Given the description of an element on the screen output the (x, y) to click on. 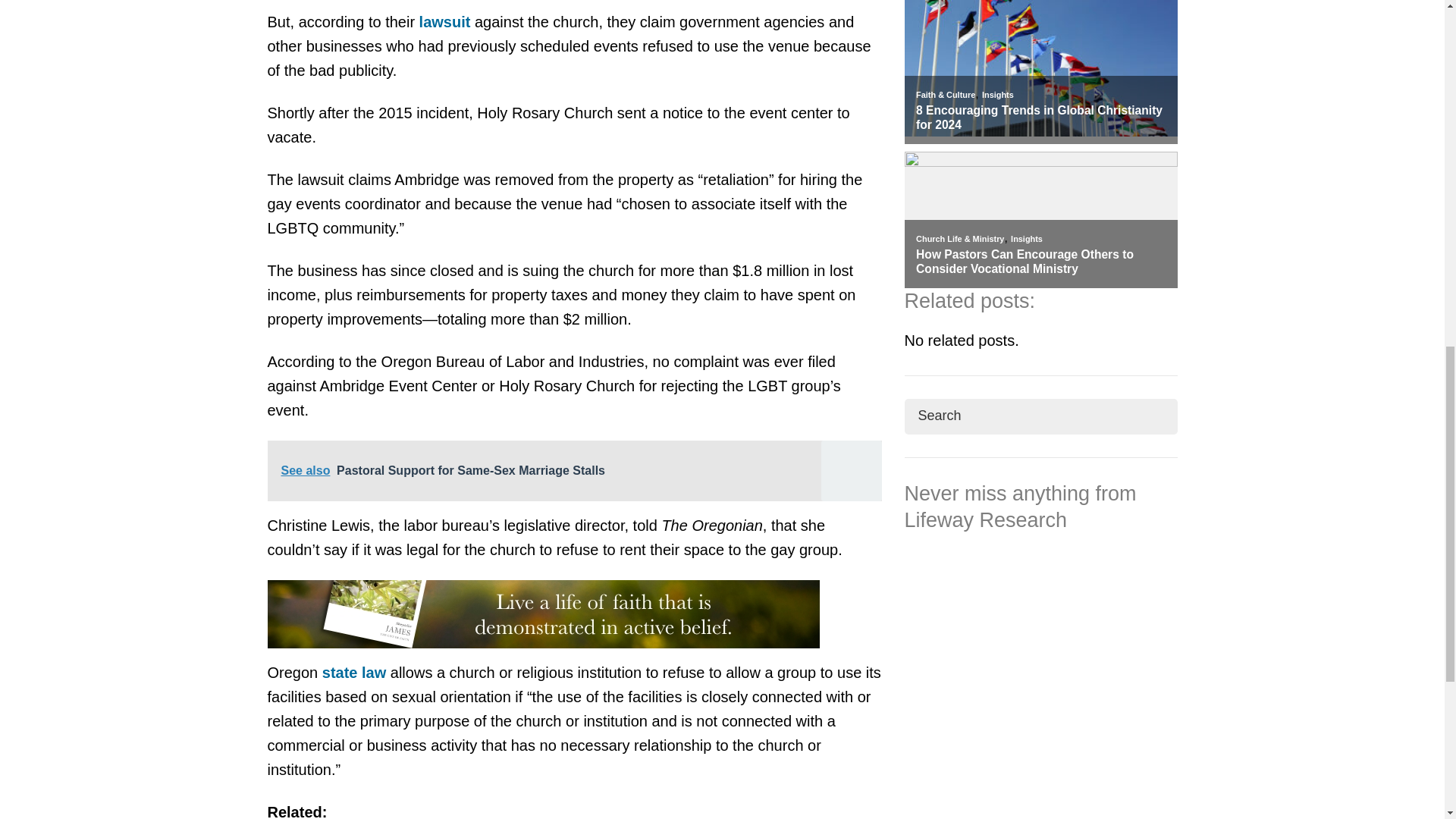
state law (353, 672)
lawsuit (444, 21)
See also  Pastoral Support for Same-Sex Marriage Stalls (573, 470)
